Given the description of an element on the screen output the (x, y) to click on. 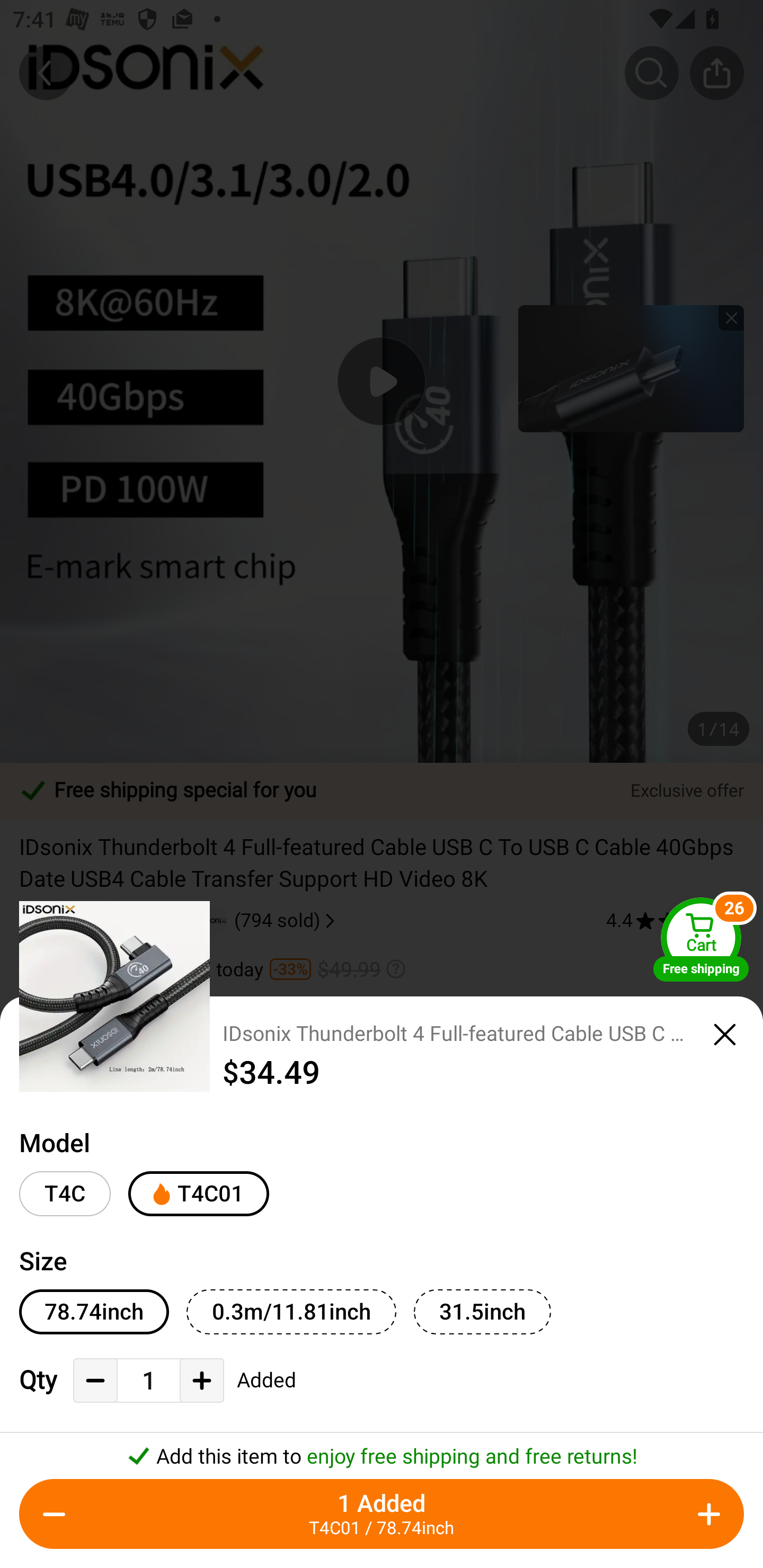
Cart Free shipping Cart (701, 939)
close (724, 1034)
 T4C (64, 1193)
 T4C01 (198, 1193)
 78.74inch (94, 1311)
 0.3m/11.81inch (290, 1311)
 31.5inch (481, 1311)
Decrease Quantity Button (95, 1380)
Add Quantity Button (201, 1380)
1 (148, 1381)
Decrease Quantity Button (54, 1513)
1 Added T4C01 / 78.74inch (381, 1513)
Add Quantity Button (708, 1513)
